Given the description of an element on the screen output the (x, y) to click on. 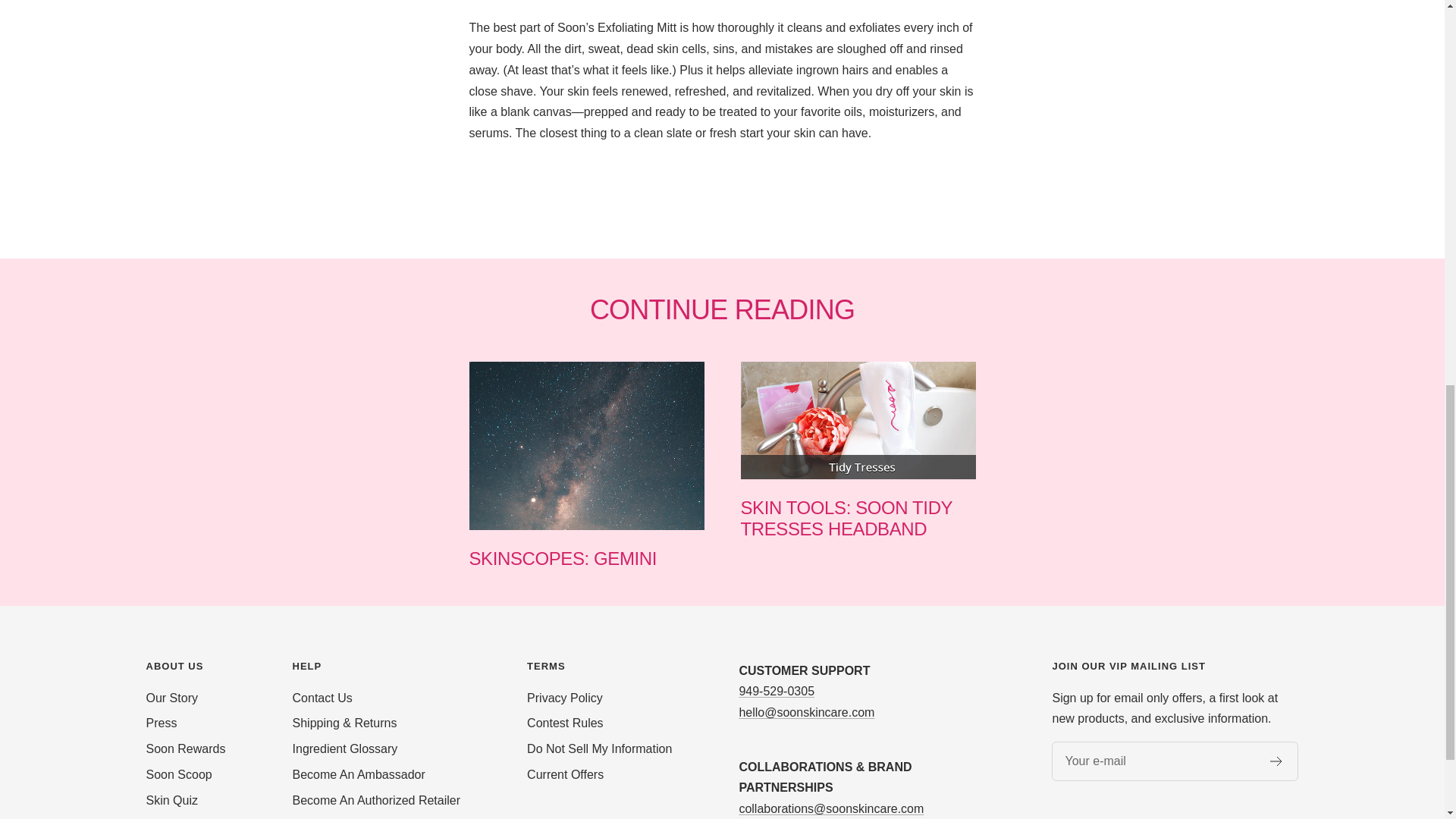
Soon Rewards (185, 749)
Skin Quiz (170, 800)
Soon Scoop (178, 774)
Our Story (322, 698)
Register (845, 517)
Press (170, 698)
SKINSCOPES: GEMINI (1275, 760)
